Given the description of an element on the screen output the (x, y) to click on. 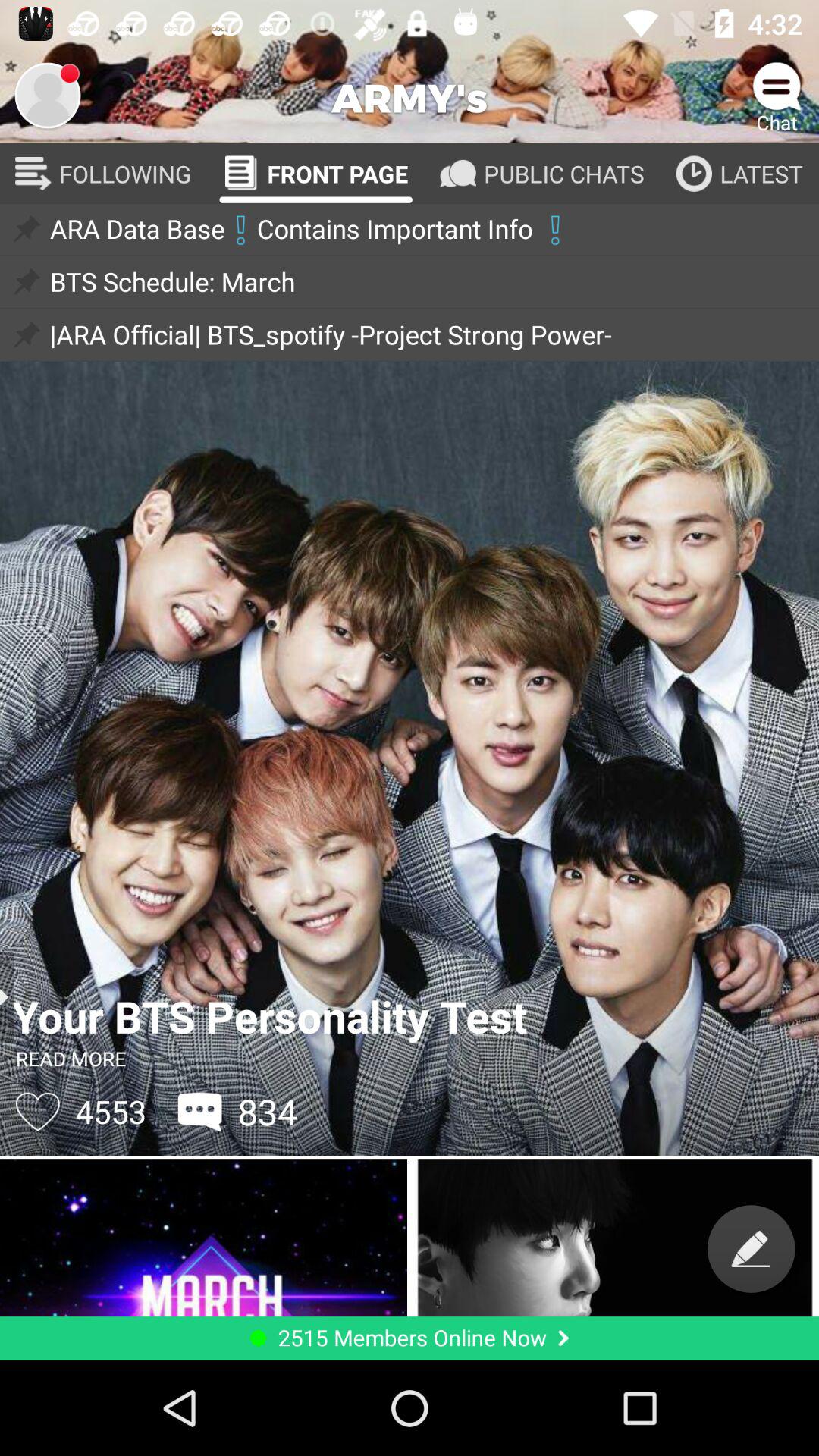
select a icon which is before front page on page (241, 173)
